Given the description of an element on the screen output the (x, y) to click on. 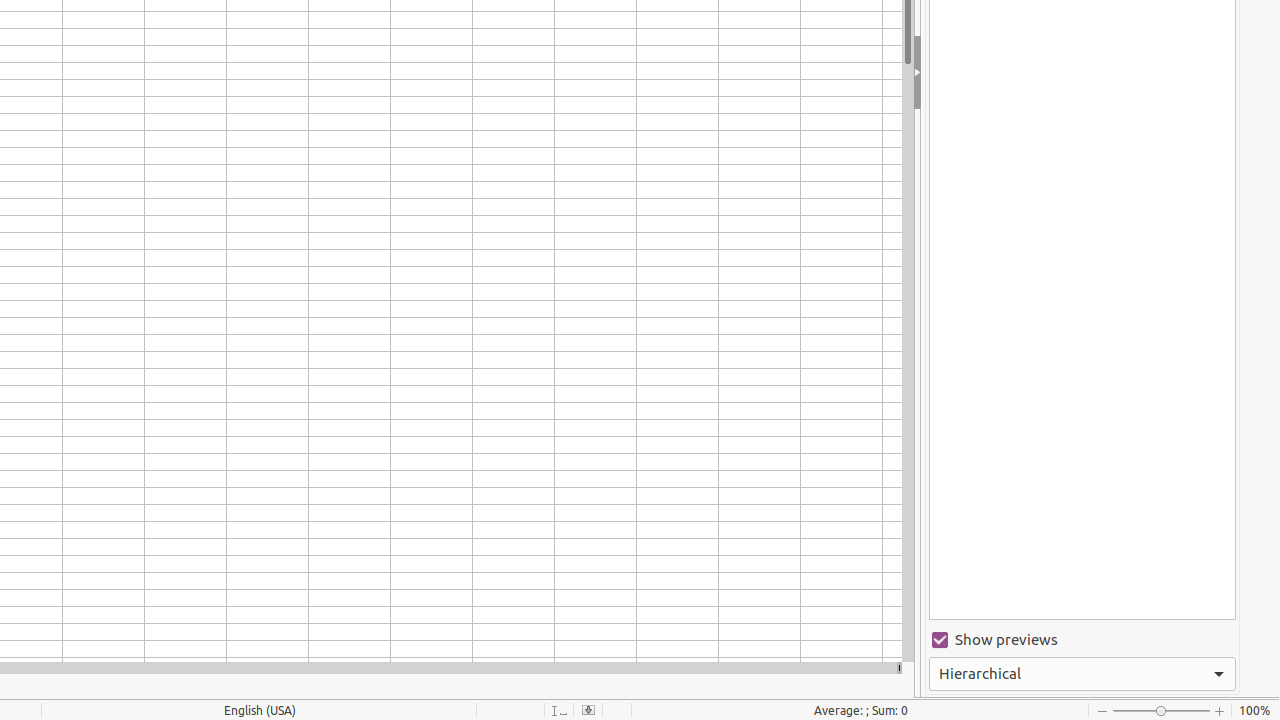
Show previews Element type: check-box (1082, 640)
